Given the description of an element on the screen output the (x, y) to click on. 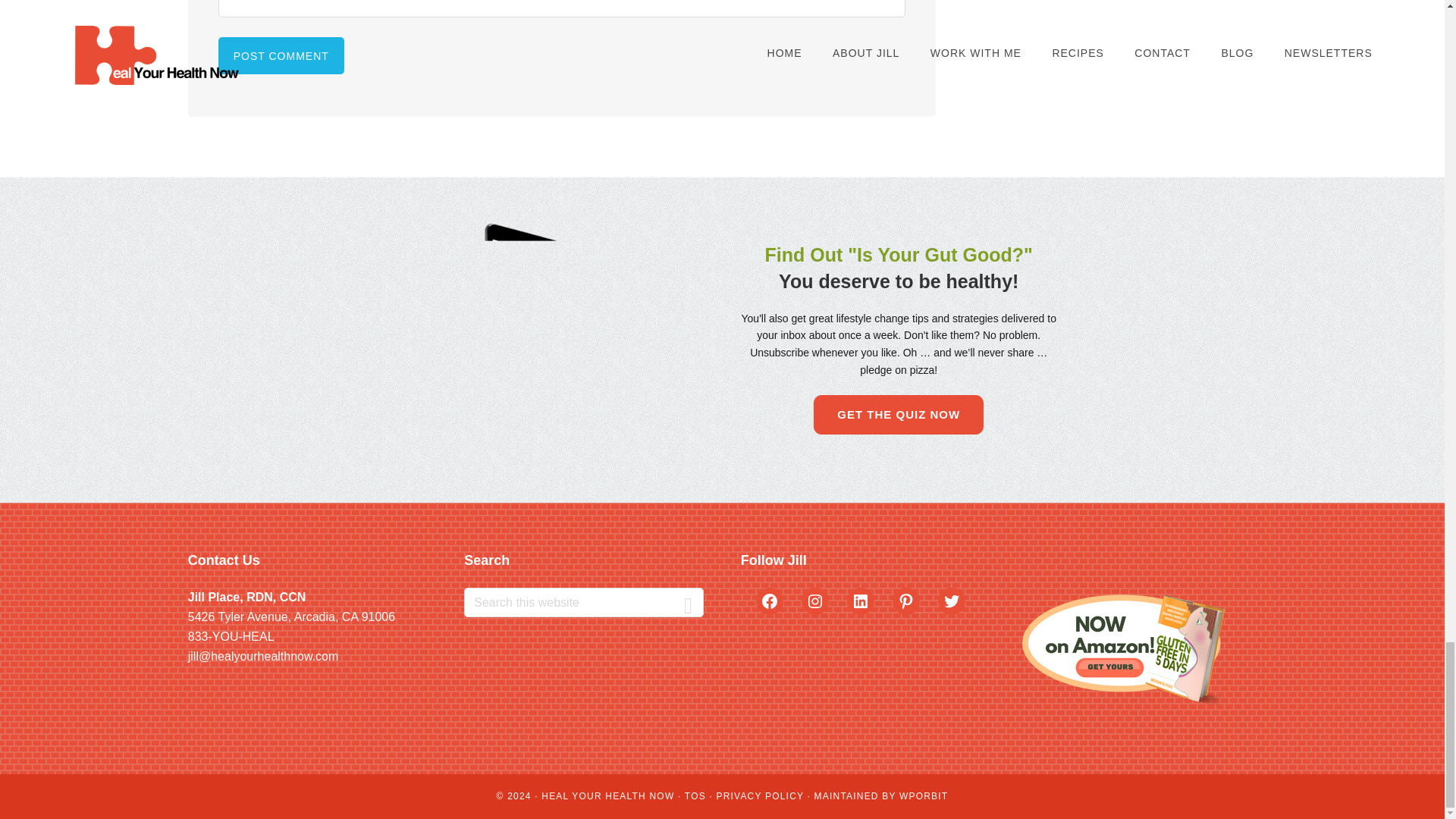
Search (687, 602)
Post Comment (280, 55)
Search (687, 602)
Post Comment (280, 55)
